Given the description of an element on the screen output the (x, y) to click on. 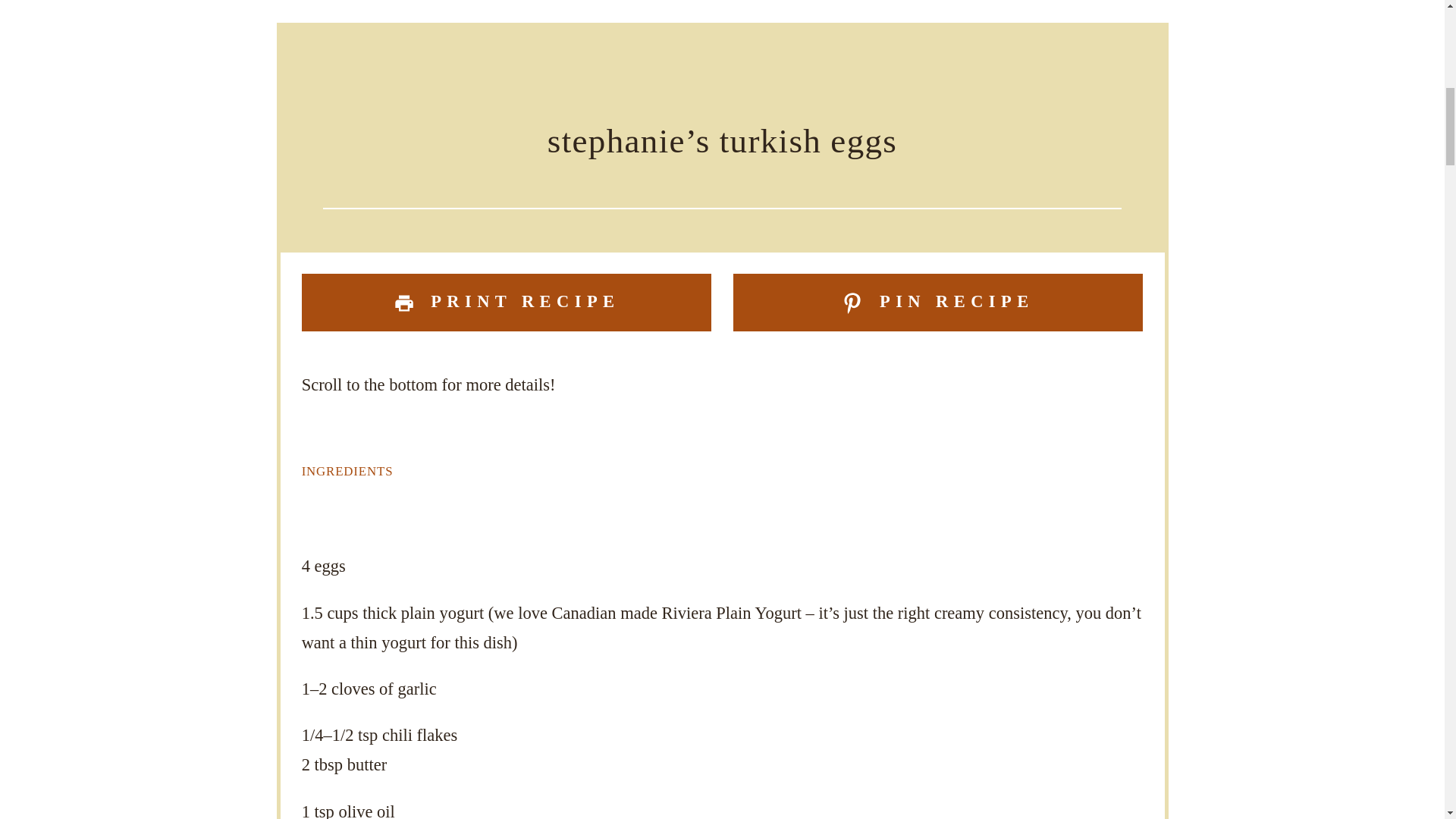
PIN RECIPE (937, 302)
PRINT RECIPE (506, 302)
